Given the description of an element on the screen output the (x, y) to click on. 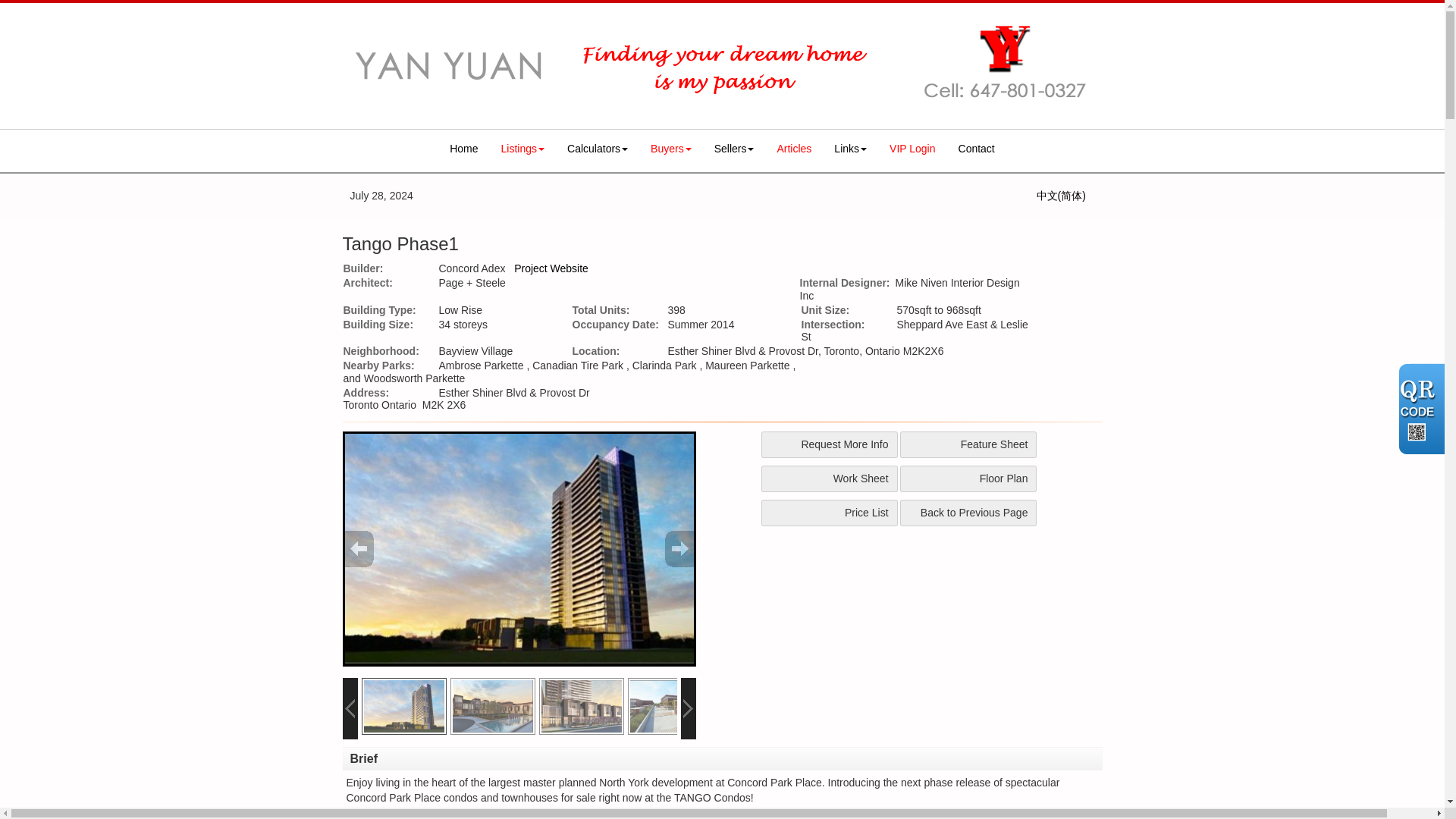
Feature Sheet (967, 444)
VIP Login (911, 148)
Calculators (597, 148)
Project Website (550, 268)
Back to Previous Page (967, 512)
Work Sheet (829, 479)
Price List (829, 512)
Request More Info (829, 444)
Articles (793, 148)
Buyers (671, 148)
Sellers (734, 148)
Listings (522, 148)
Home (463, 148)
Floor Plan (967, 479)
Contact (976, 148)
